Given the description of an element on the screen output the (x, y) to click on. 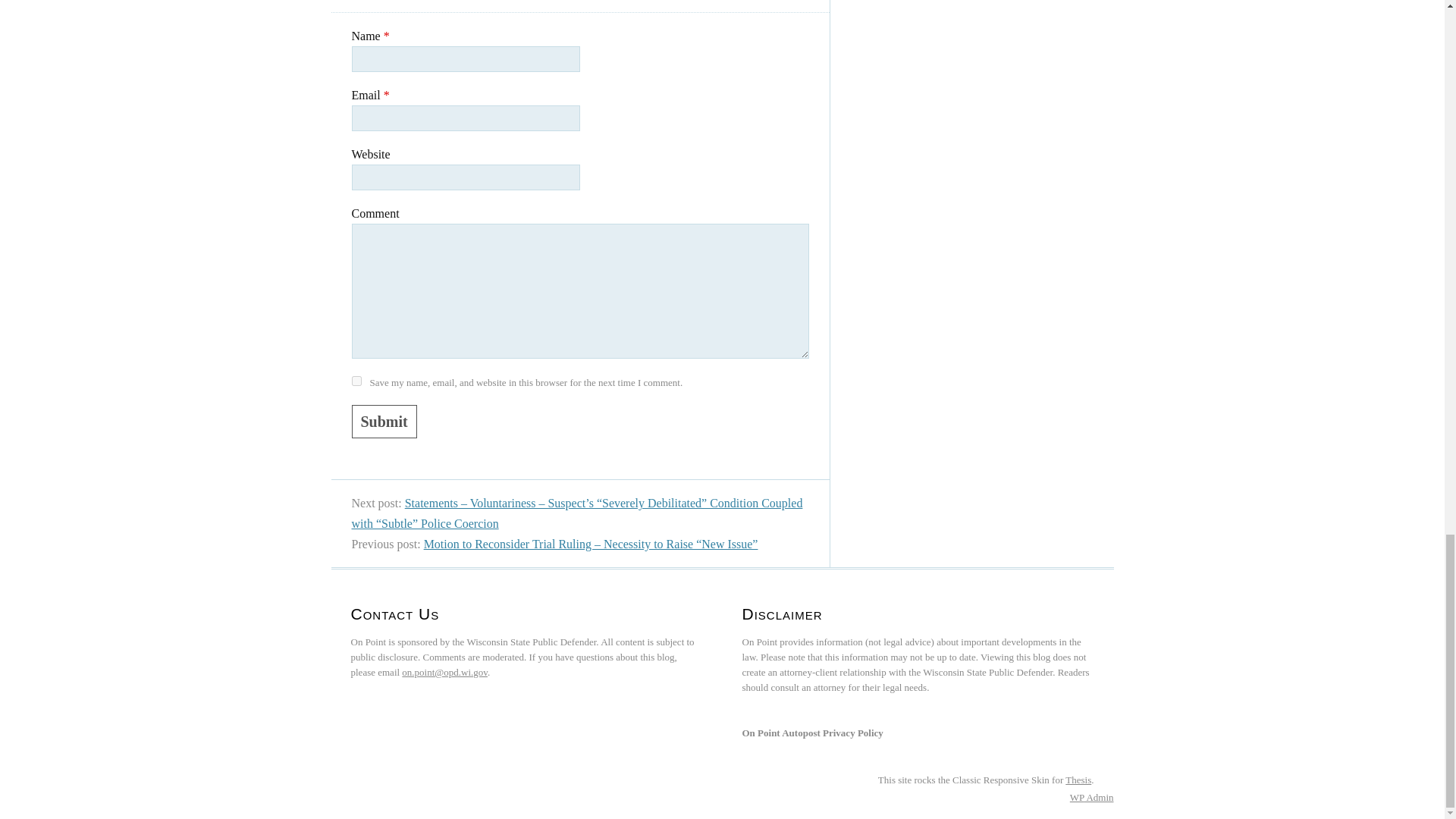
yes (356, 380)
Submit (384, 421)
WP Admin (1091, 797)
WordPress (1077, 797)
Submit (384, 421)
On Point Autopost Privacy Policy (811, 732)
Thesis (1077, 779)
